Given the description of an element on the screen output the (x, y) to click on. 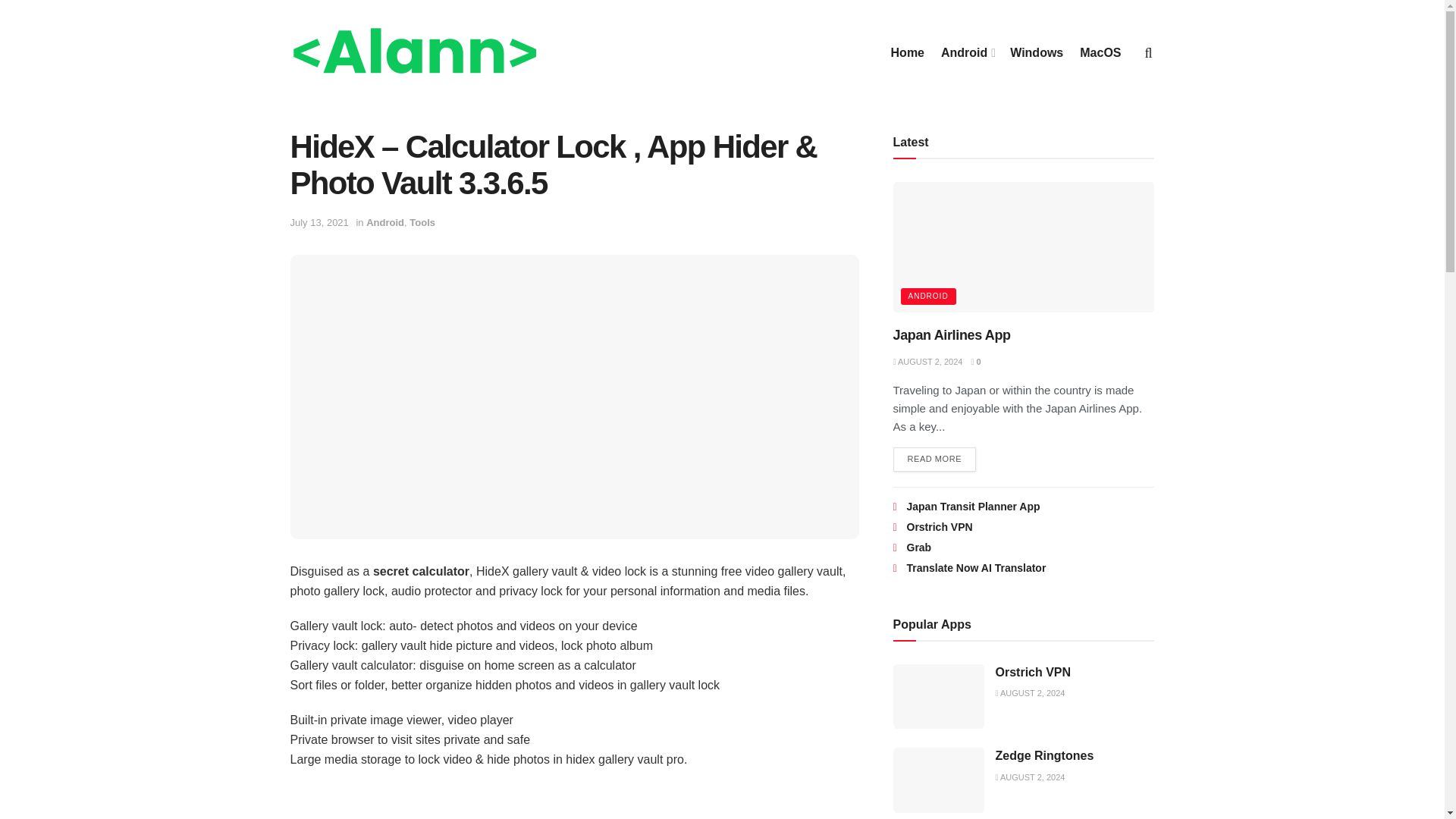
Windows (1036, 53)
Android (966, 53)
Android (385, 222)
July 13, 2021 (318, 222)
Tools (422, 222)
MacOS (1100, 53)
